Given the description of an element on the screen output the (x, y) to click on. 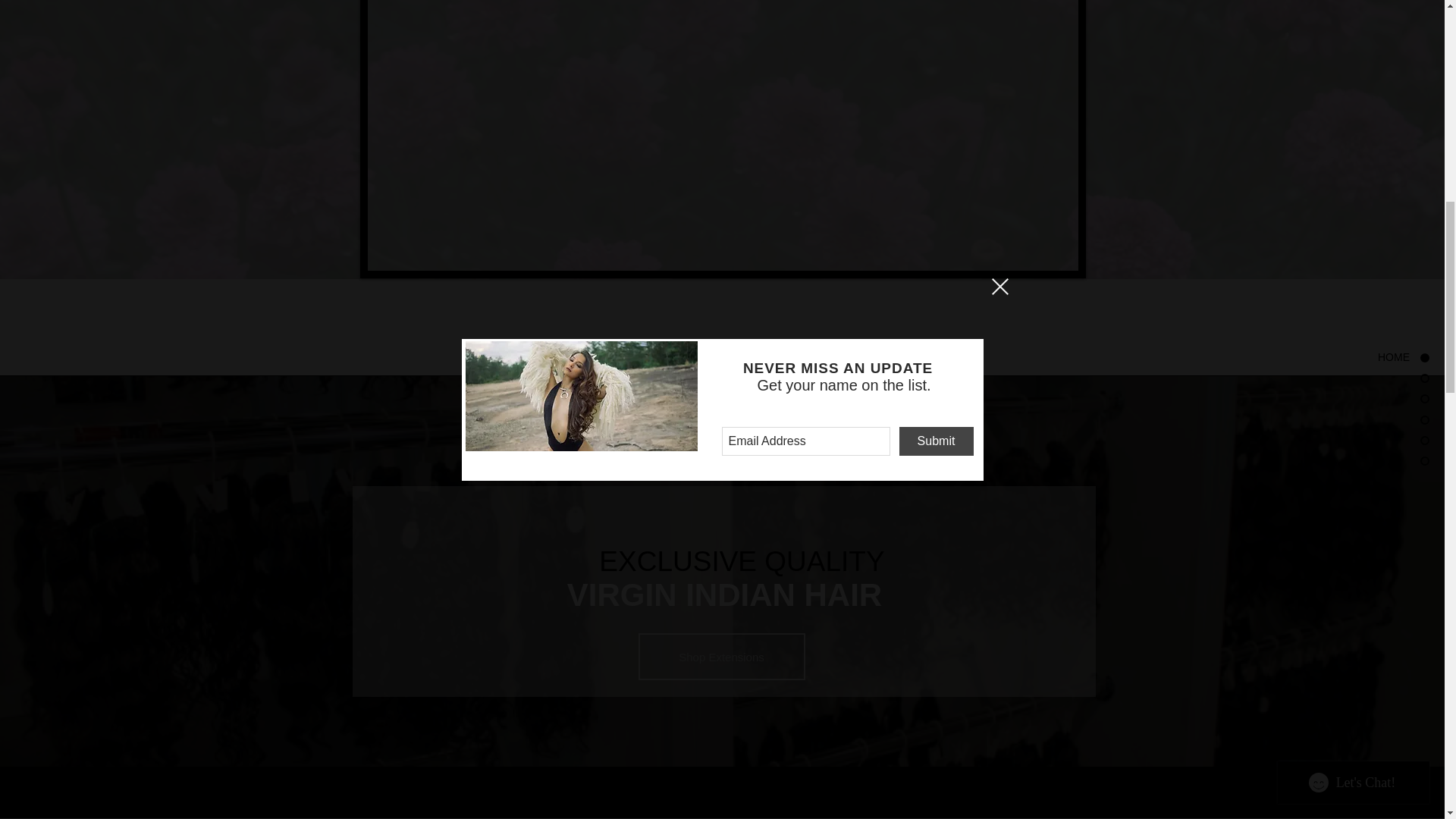
External YouTube (721, 94)
Shop Extensions (722, 656)
